Given the description of an element on the screen output the (x, y) to click on. 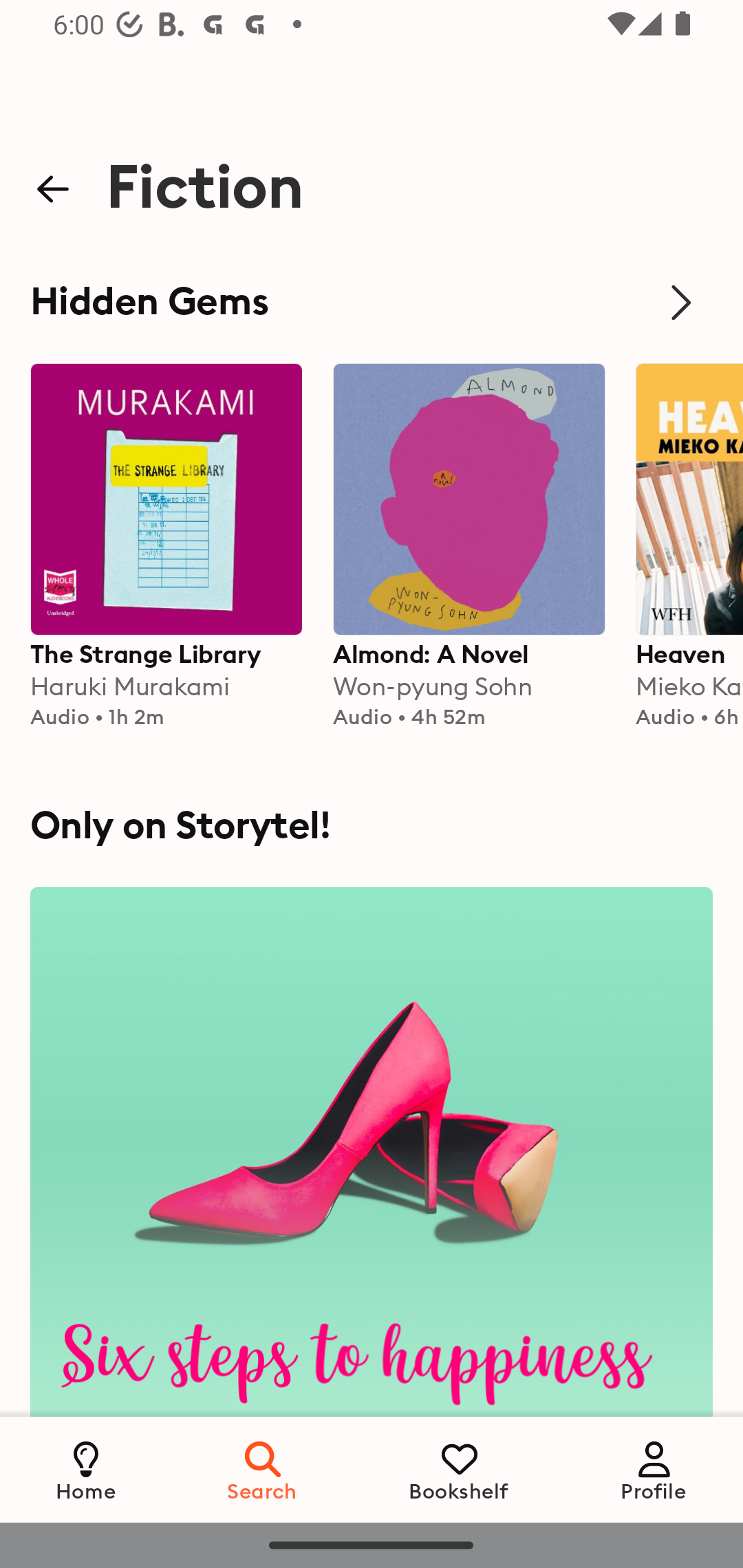
Back (52, 189)
Hidden Gems (371, 302)
Home (85, 1468)
Search (262, 1468)
Bookshelf (458, 1468)
Profile (653, 1468)
